Given the description of an element on the screen output the (x, y) to click on. 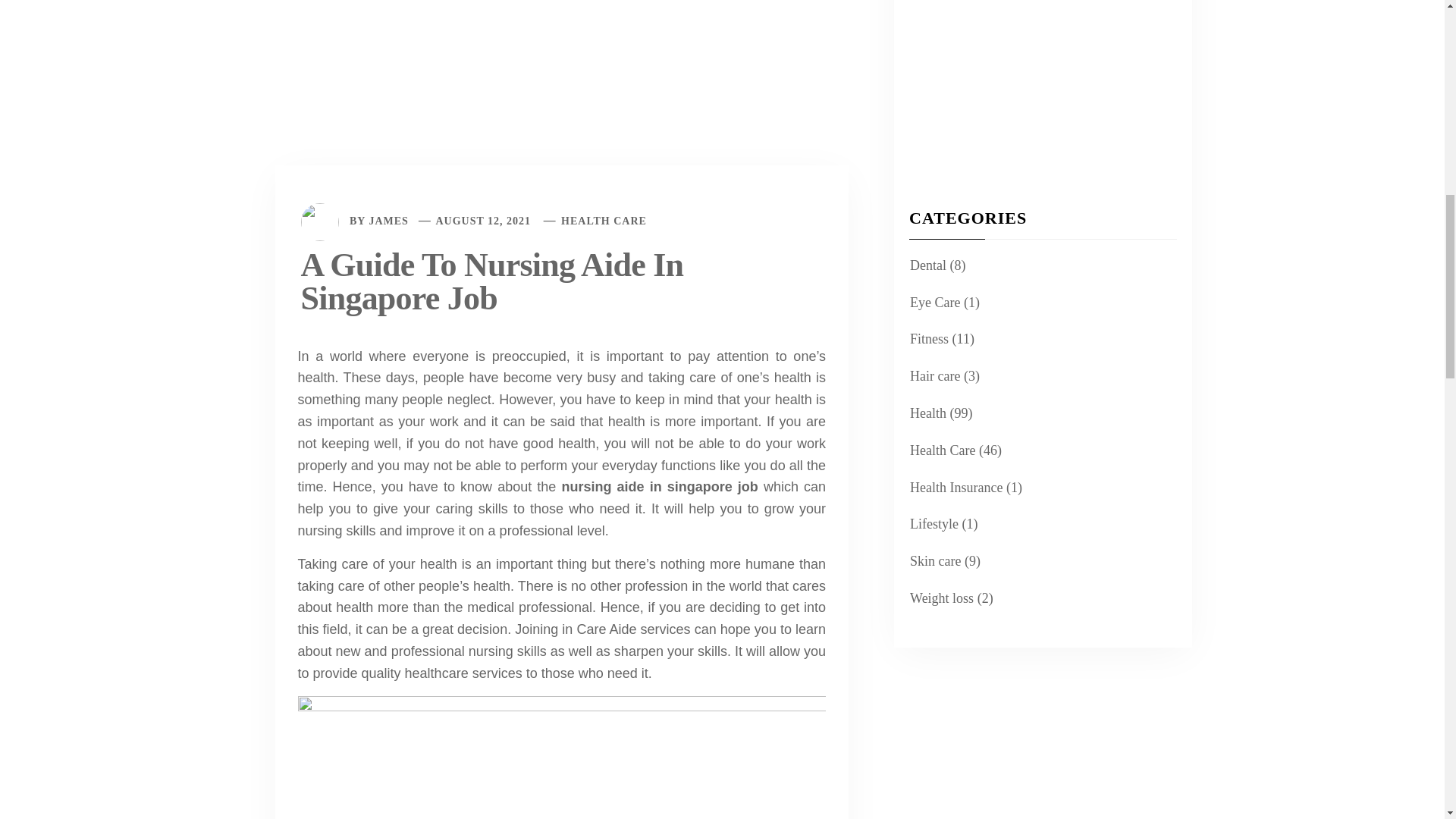
A Guide To Nursing Aide In Singapore Job (560, 5)
HEALTH CARE (603, 220)
AUGUST 12, 2021 (483, 220)
Health Insurance (954, 487)
Health (925, 413)
JAMES (387, 220)
Dental (925, 265)
A Guide To Nursing Aide In Singapore Job (490, 281)
Weight loss (939, 598)
Hair care (932, 376)
Eye Care (932, 302)
Fitness (927, 339)
Skin care (932, 561)
nursing aide in singapore job (658, 486)
Health Care (940, 450)
